Given the description of an element on the screen output the (x, y) to click on. 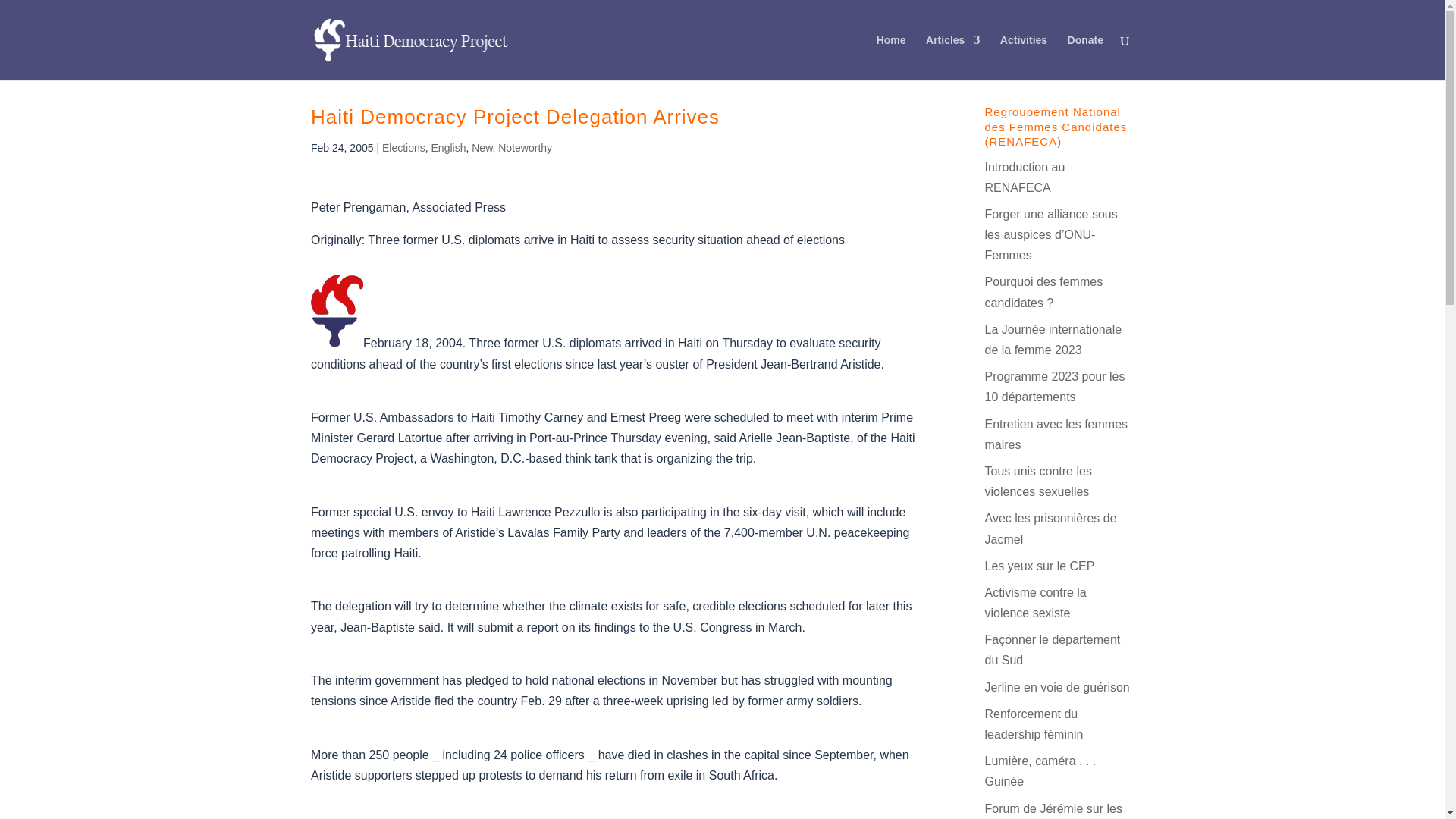
Pourquoi des femmes candidates ? (1043, 291)
With the women mayors (1055, 434)
Shaping Up the Sud Department  (1051, 649)
Lights, Camera . . . Guinea (1040, 770)
Articles (952, 57)
Noteworthy (524, 147)
Meet These Brave Women Seeking to Change Haiti (1024, 177)
Web of Agenda over the Whole Ten Coigns (1054, 386)
Activism Against Gender-Based Violence (1035, 602)
Jerline on the Mend  (1056, 686)
